Given the description of an element on the screen output the (x, y) to click on. 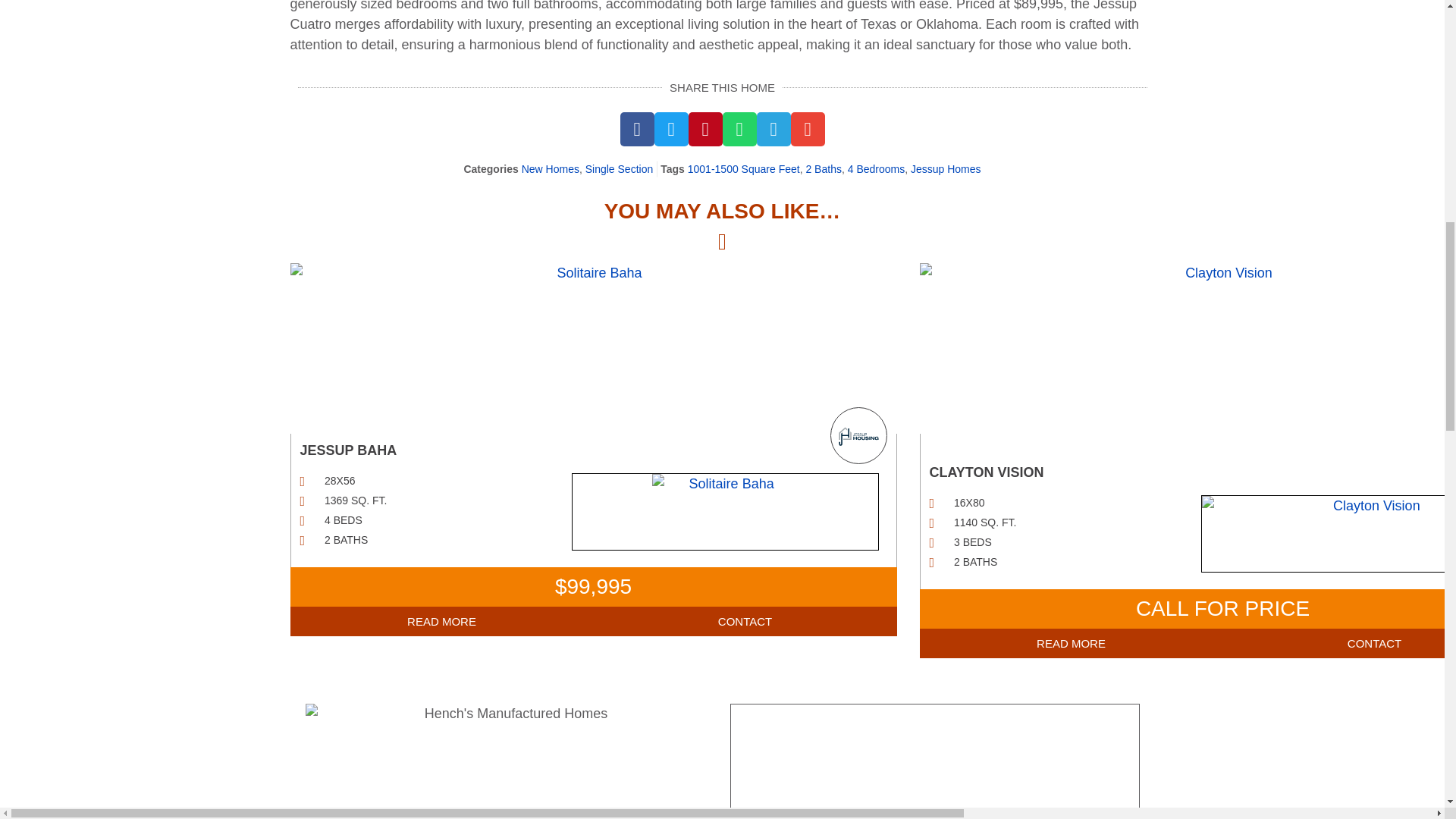
1001-1500 Square Feet (743, 168)
23 Freda Circle, Calera OK 74730 (934, 761)
Jessup Homes (946, 168)
New Homes (550, 168)
4 Bedrooms (875, 168)
Single Section (619, 168)
2 Baths (823, 168)
